Given the description of an element on the screen output the (x, y) to click on. 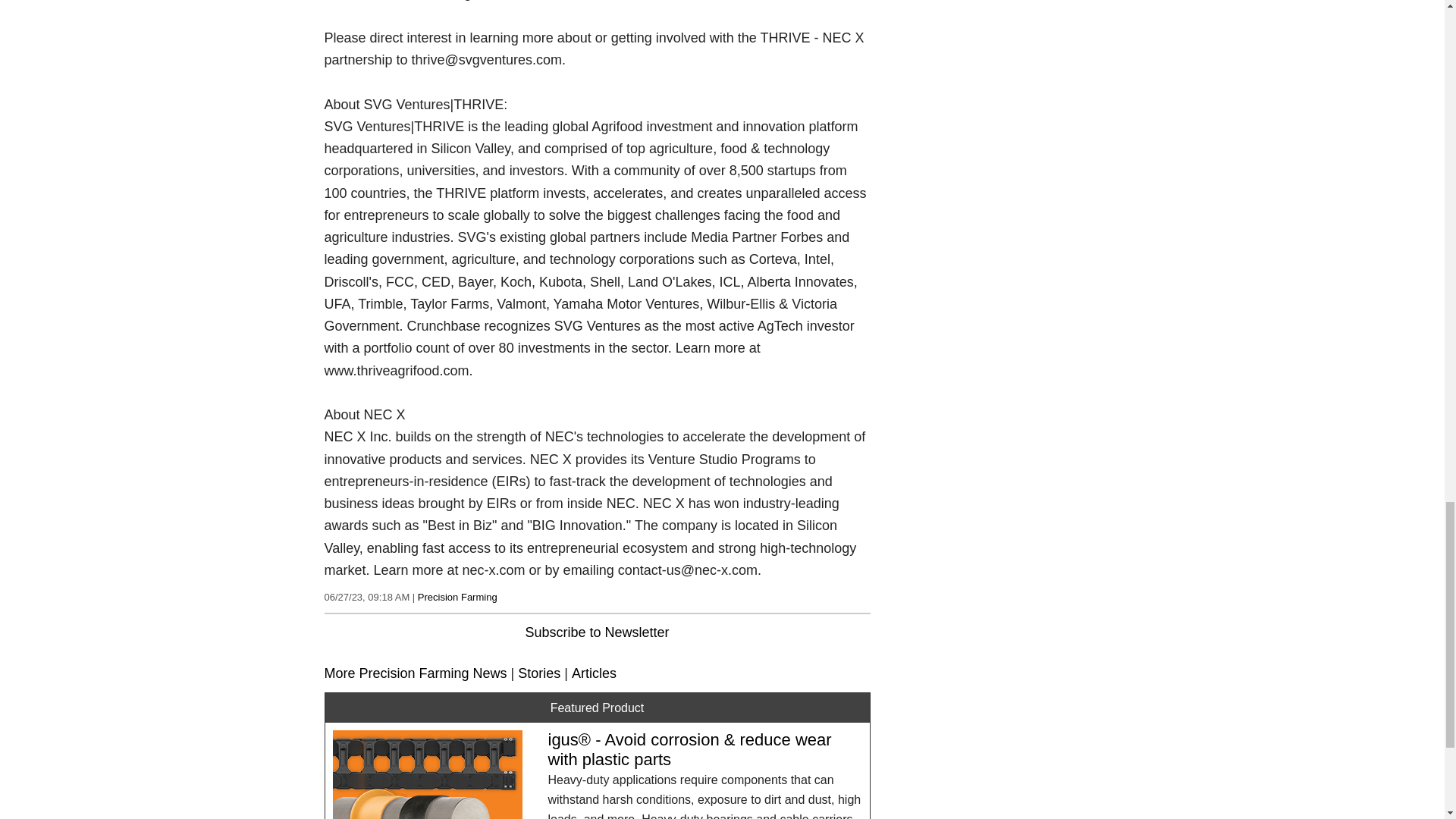
More Precision Farming News (415, 672)
Articles (593, 672)
Stories (539, 672)
Precision Farming (457, 596)
Subscribe to Newsletter (596, 631)
